Given the description of an element on the screen output the (x, y) to click on. 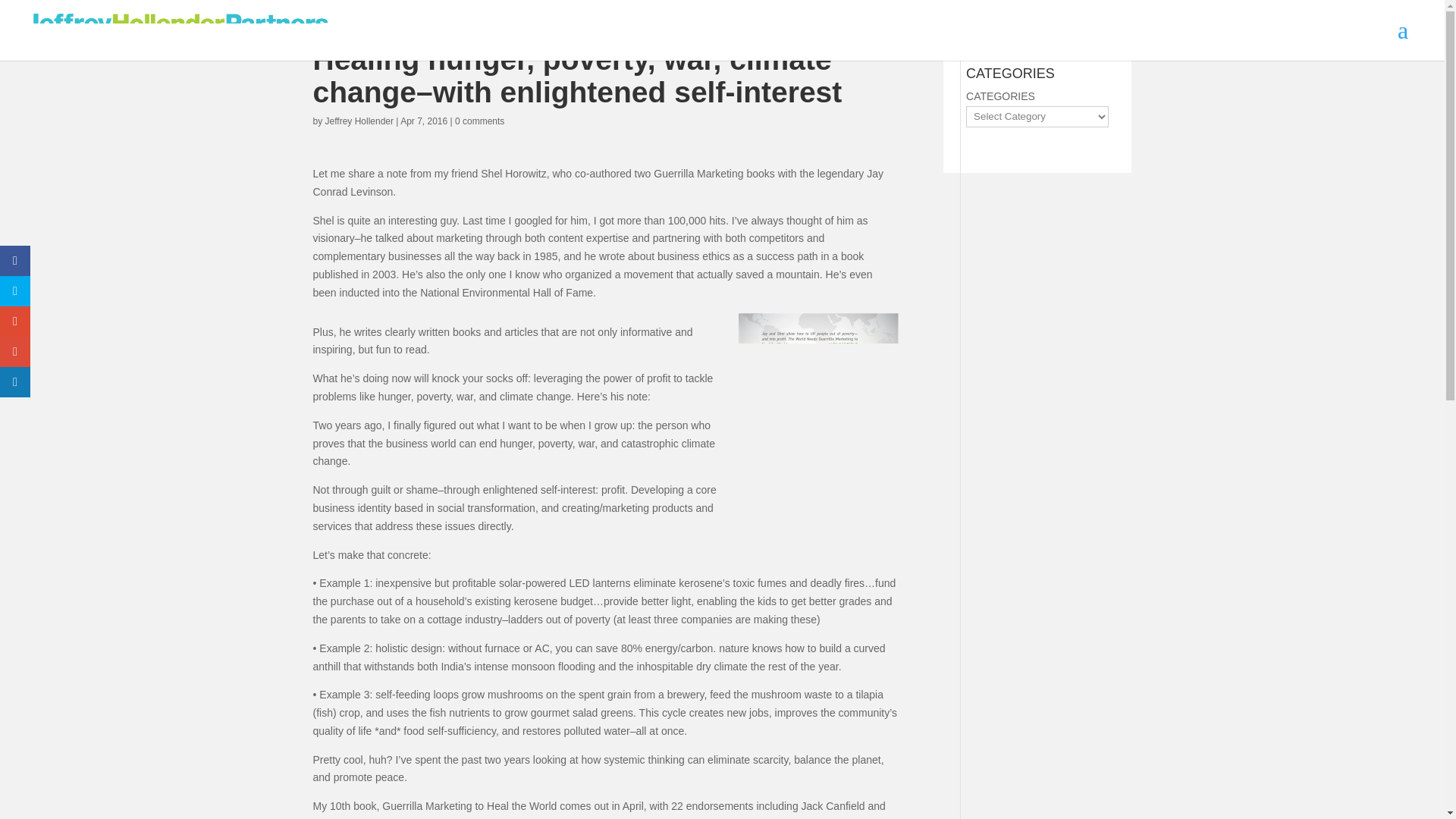
0 comments (478, 121)
Jeffrey Hollender (359, 121)
Posts by Jeffrey Hollender (359, 121)
